Given the description of an element on the screen output the (x, y) to click on. 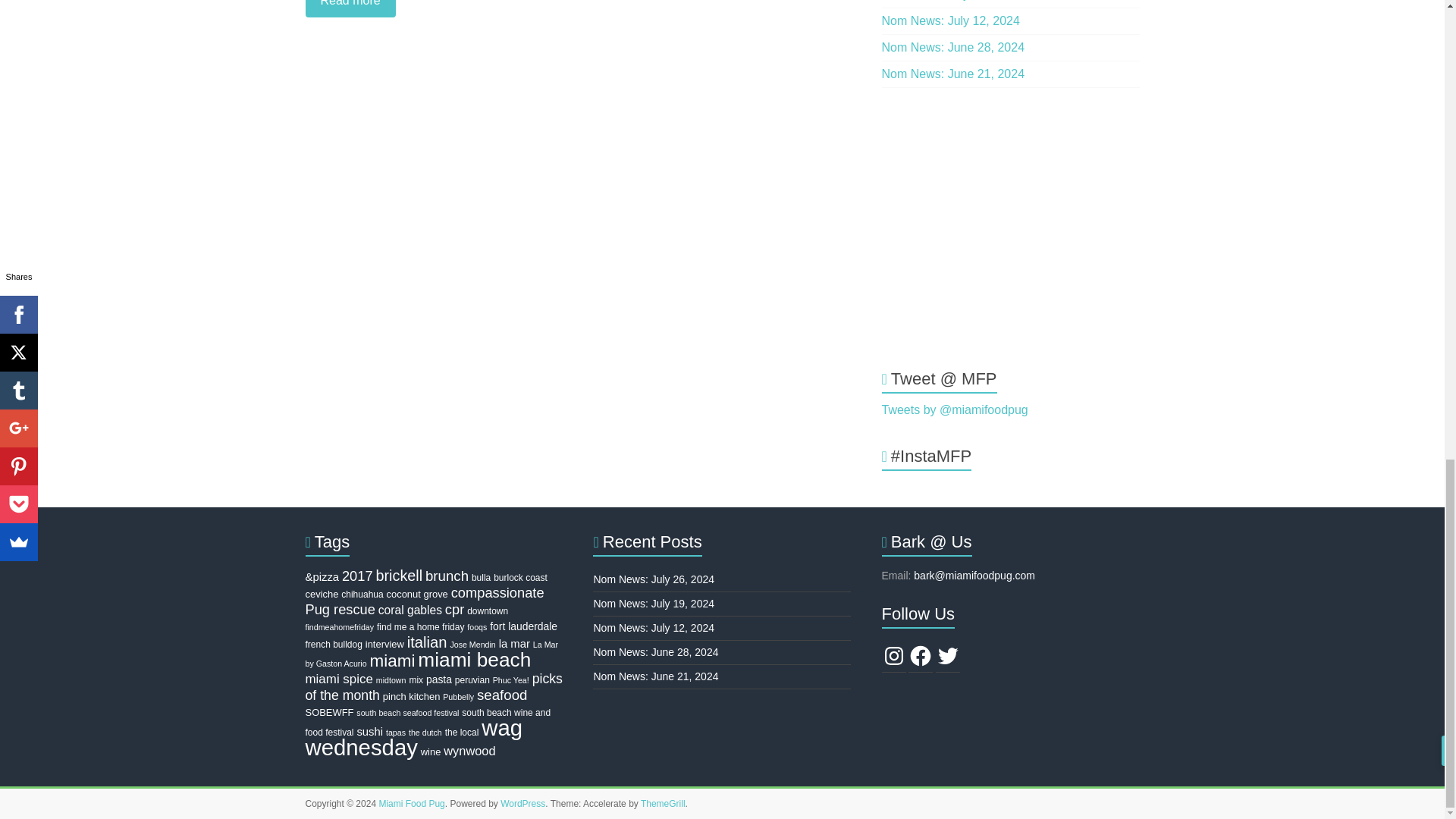
Nom News: July 12, 2024 (951, 20)
Miami Food Pug (411, 803)
Read more (577, 8)
Nom News: June 28, 2024 (953, 47)
Nom News: June 21, 2024 (953, 73)
WordPress (522, 803)
ThemeGrill (662, 803)
